Given the description of an element on the screen output the (x, y) to click on. 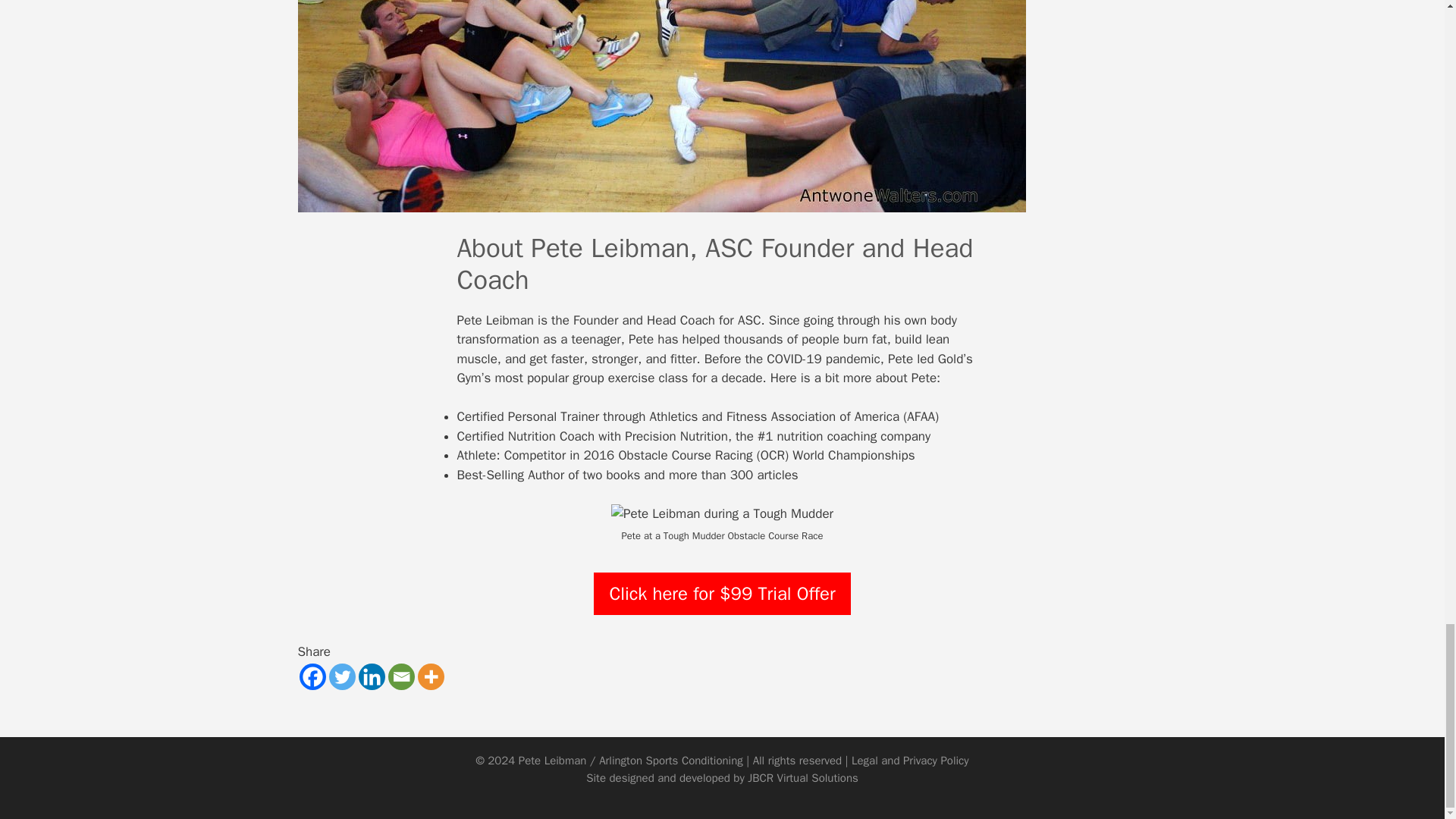
JBCR Virtual Solutions (803, 777)
Twitter (342, 676)
Legal and Privacy Policy (910, 760)
Linkedin (371, 676)
Email (401, 676)
JBCR Virtual Solutions (803, 777)
More (430, 676)
Facebook (311, 676)
